Given the description of an element on the screen output the (x, y) to click on. 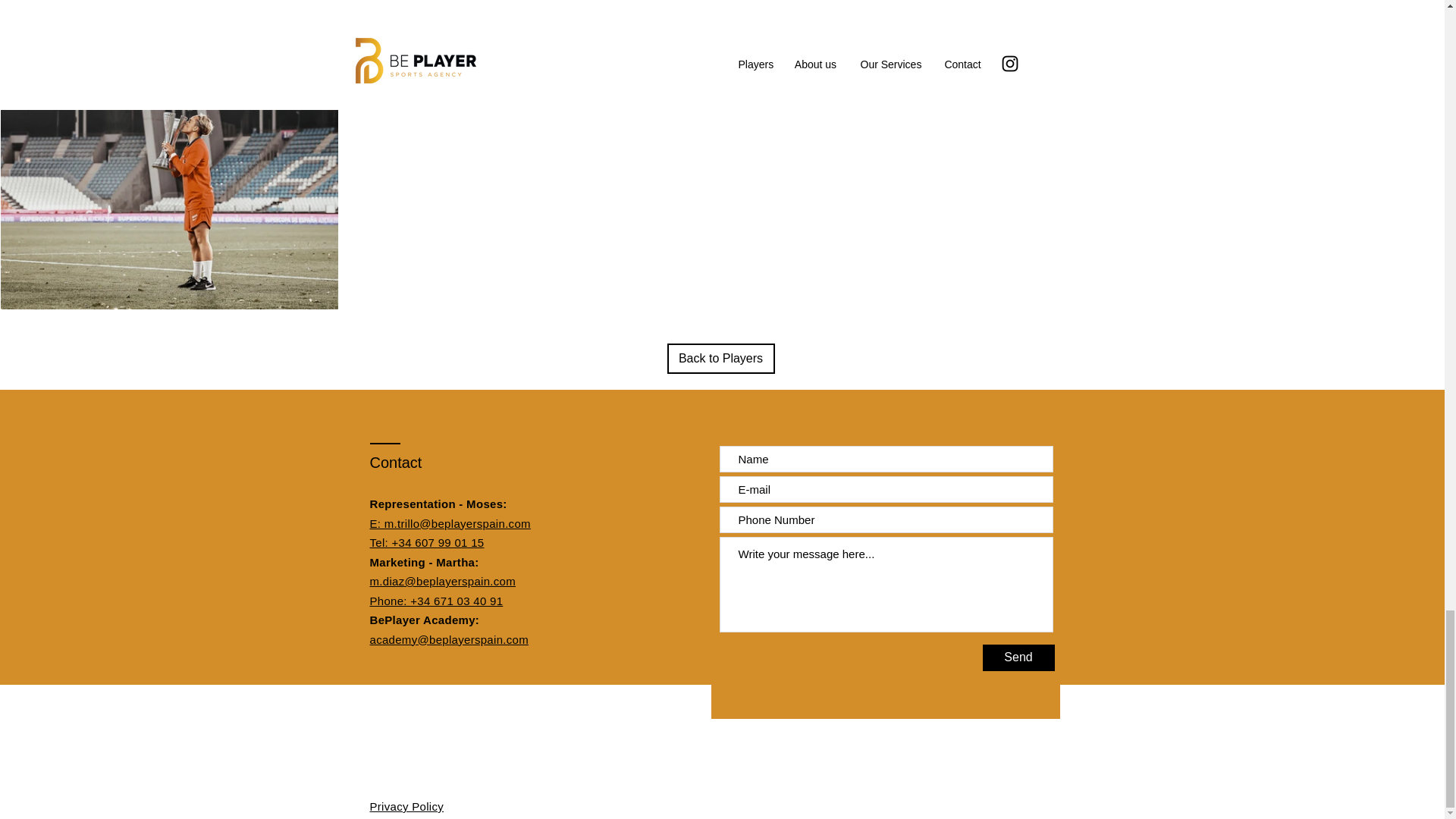
Back to Players (720, 358)
Send (1018, 657)
Privacy Policy (406, 806)
